Given the description of an element on the screen output the (x, y) to click on. 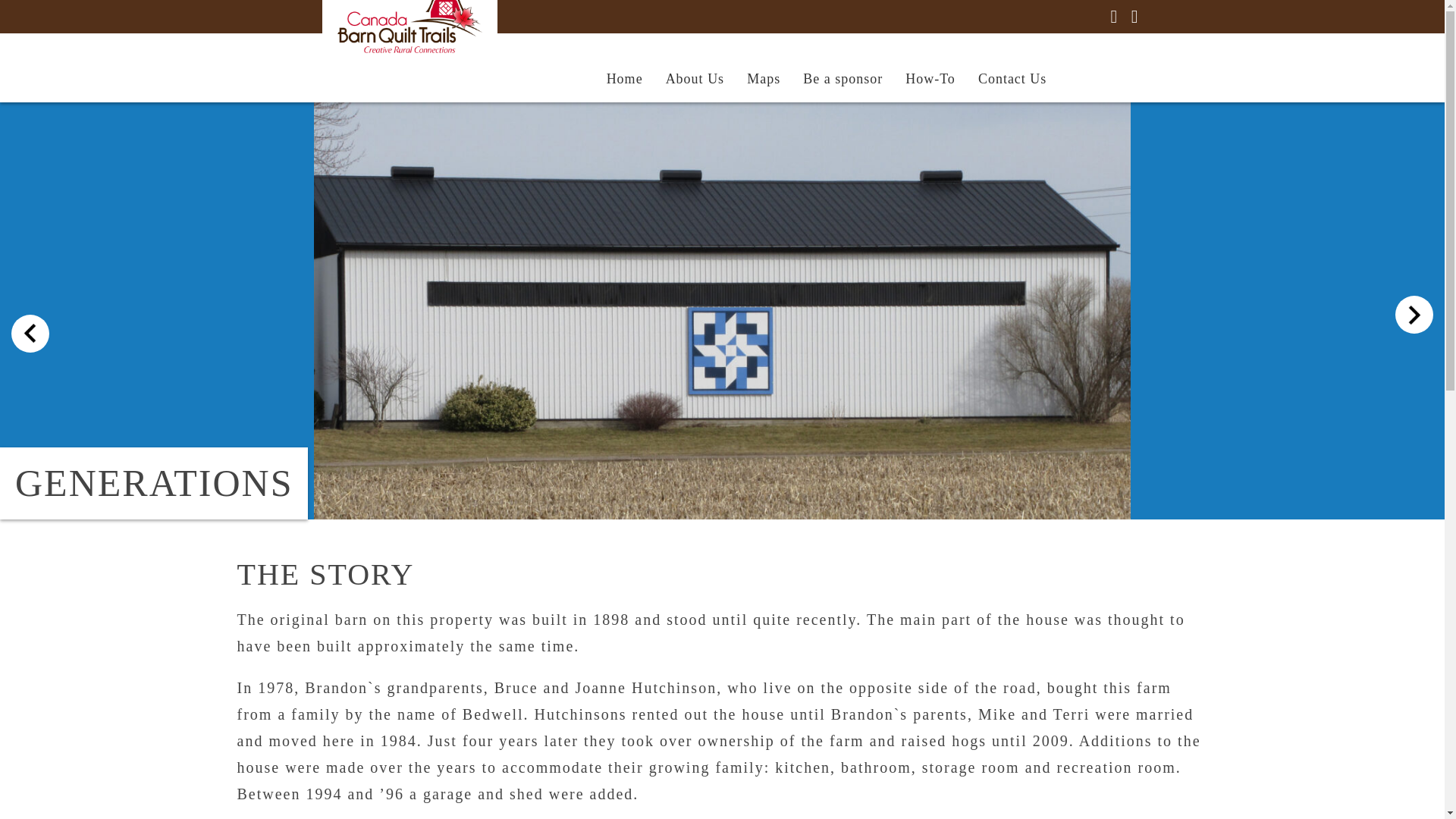
How-To (929, 78)
About Us (694, 78)
Contact Us (1012, 78)
Home (624, 78)
Be a sponsor (842, 78)
Maps (763, 78)
